Given the description of an element on the screen output the (x, y) to click on. 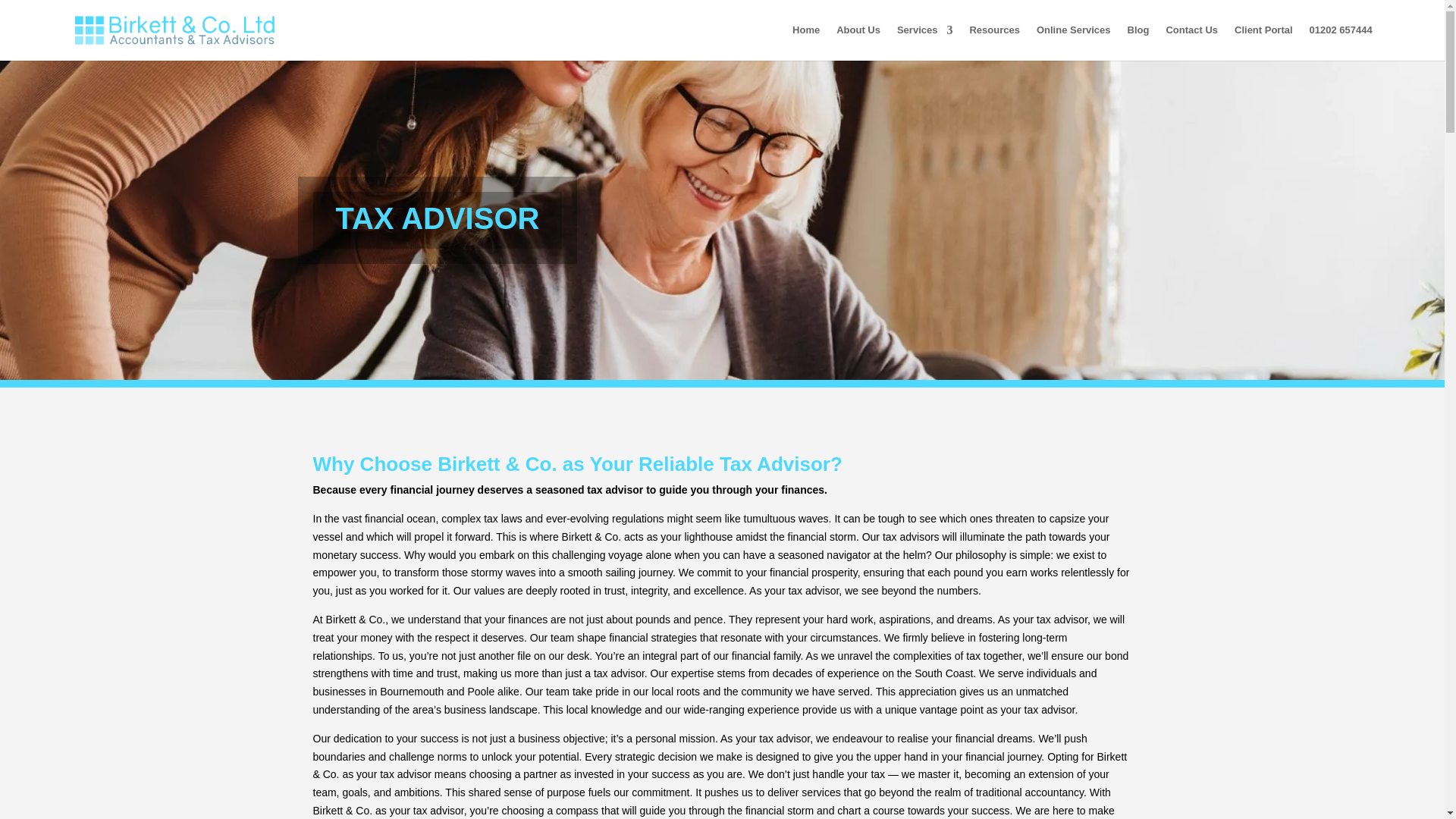
Contact Us (1191, 42)
About Us (857, 42)
Services (924, 42)
01202 657444 (1340, 42)
Client Portal (1263, 42)
Resources (994, 42)
Online Services (1073, 42)
